Given the description of an element on the screen output the (x, y) to click on. 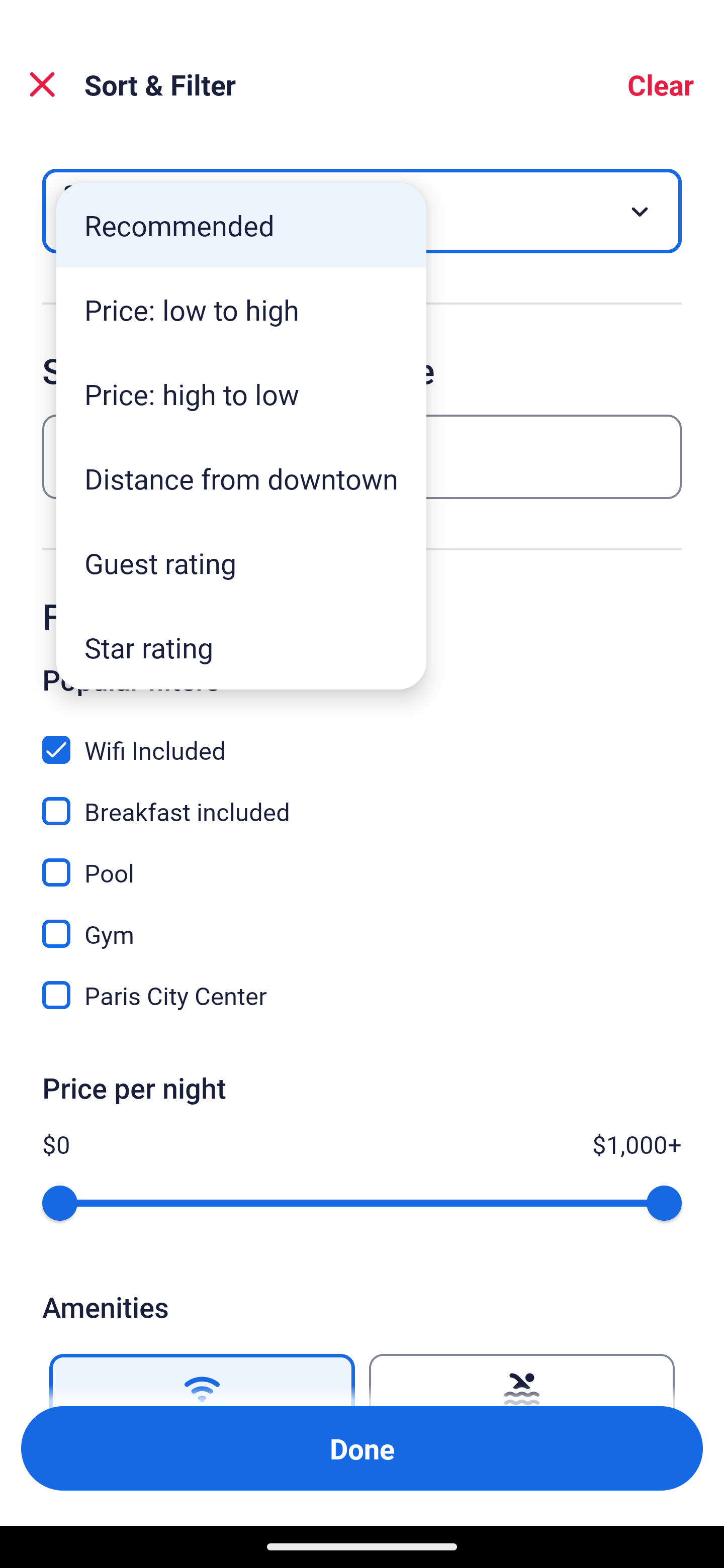
Price: low to high (241, 309)
Price: high to low (241, 393)
Distance from downtown (241, 477)
Guest rating (241, 562)
Star rating (241, 647)
